Given the description of an element on the screen output the (x, y) to click on. 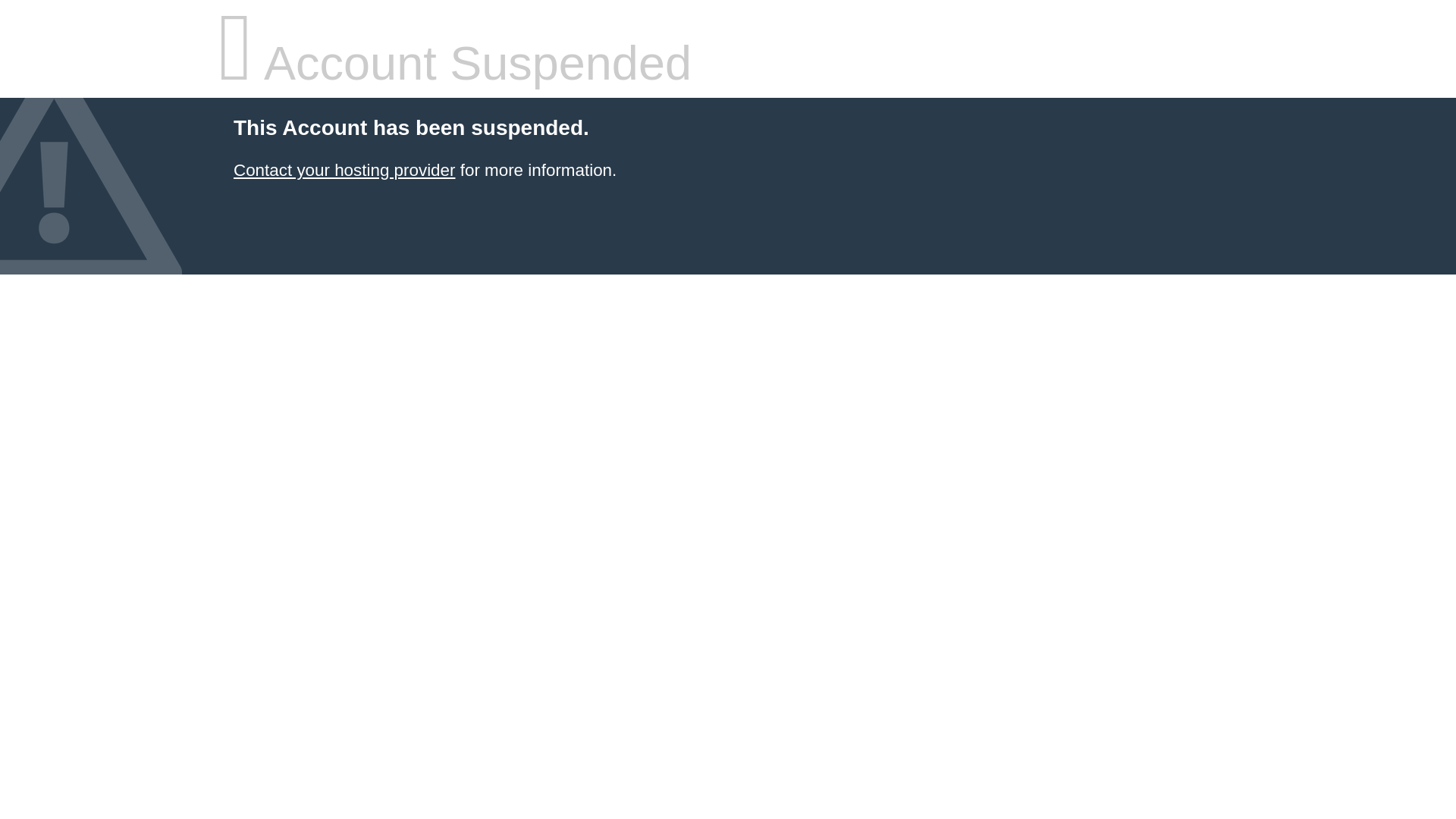
Contact your hosting provider (343, 169)
